Given the description of an element on the screen output the (x, y) to click on. 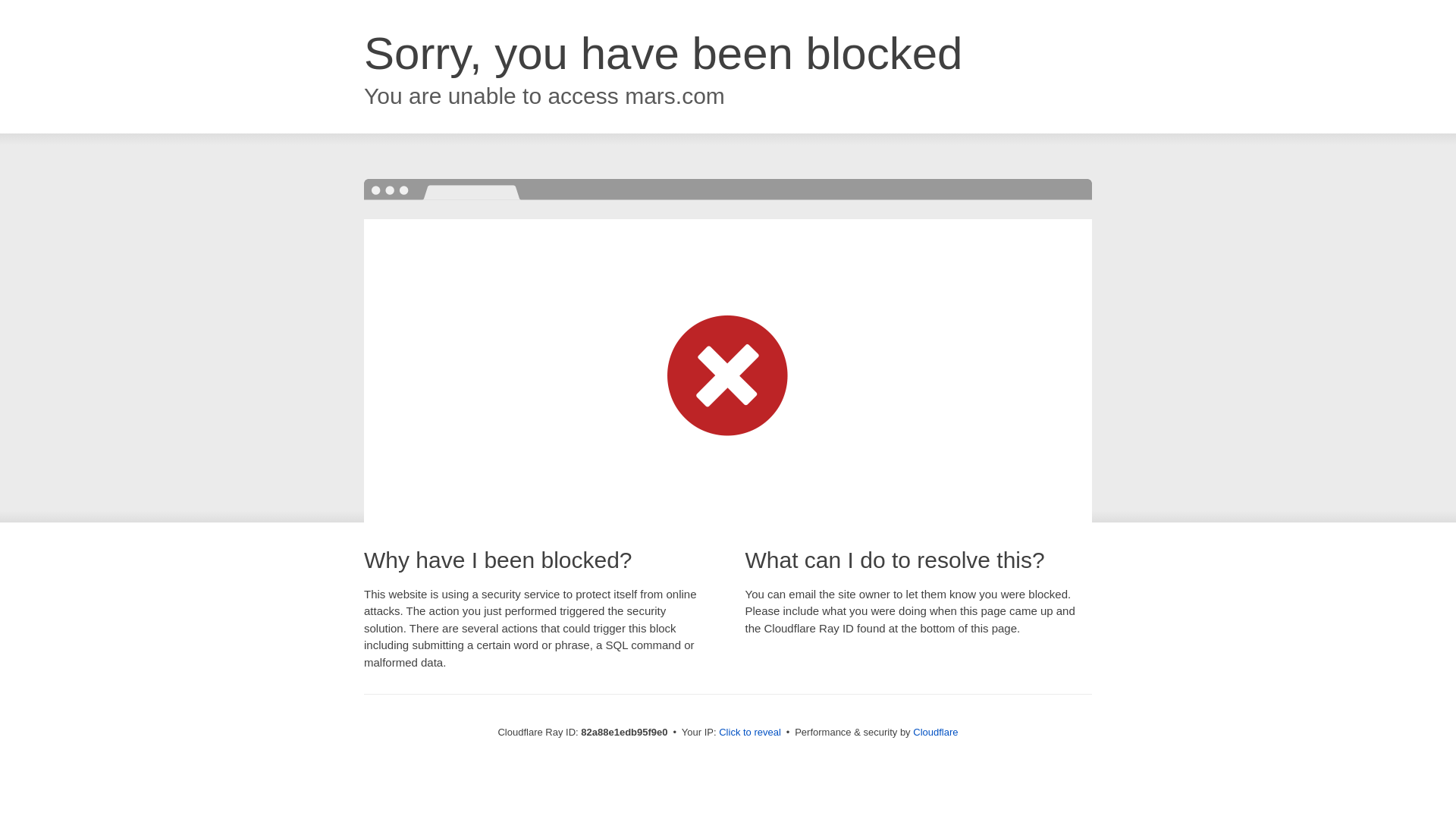
Cloudflare Element type: text (935, 731)
Click to reveal Element type: text (749, 732)
